Given the description of an element on the screen output the (x, y) to click on. 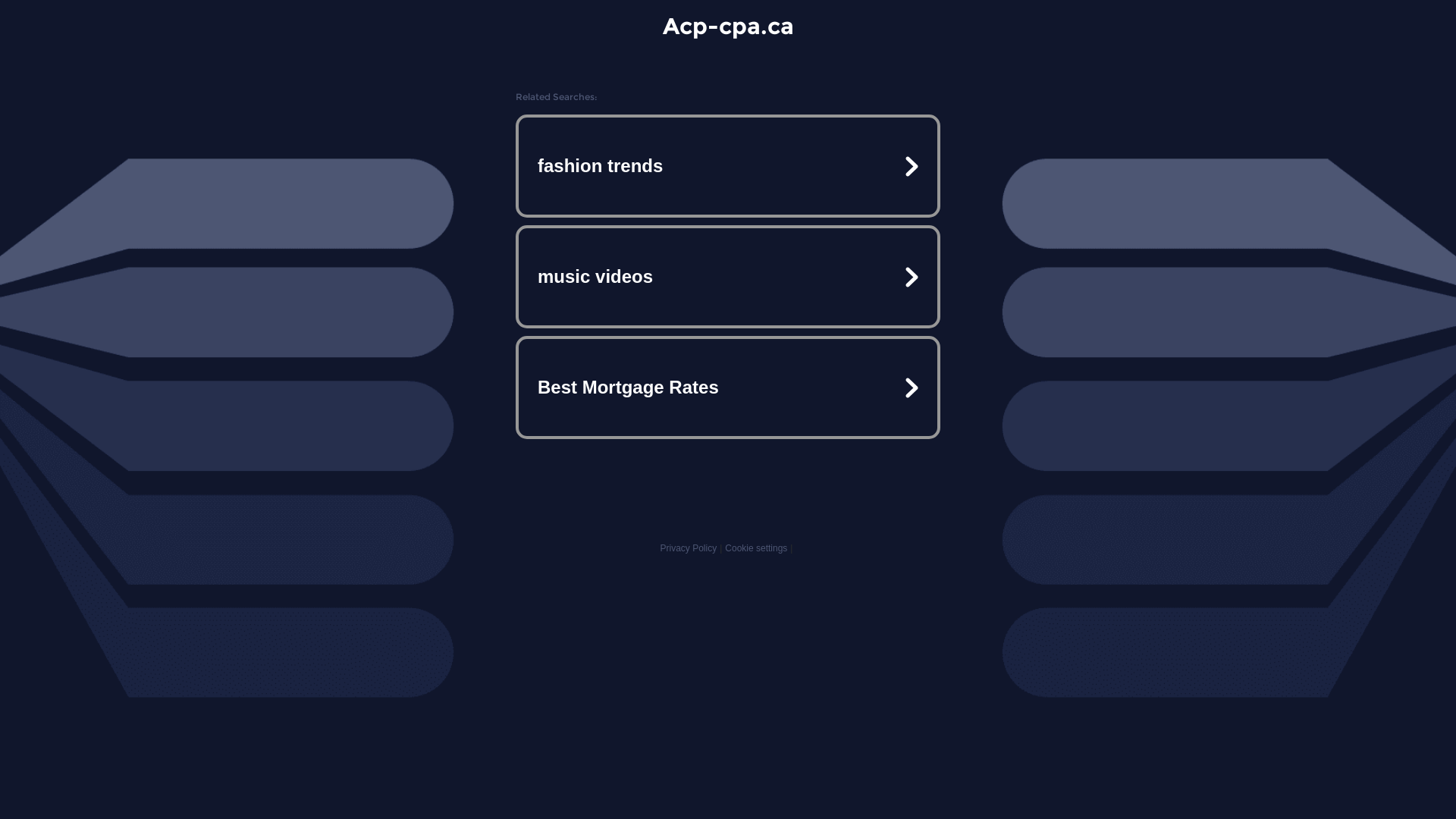
Best Mortgage Rates Element type: text (727, 387)
Cookie settings Element type: text (755, 547)
fashion trends Element type: text (727, 165)
Acp-cpa.ca Element type: text (727, 26)
Privacy Policy Element type: text (687, 547)
music videos Element type: text (727, 276)
